Given the description of an element on the screen output the (x, y) to click on. 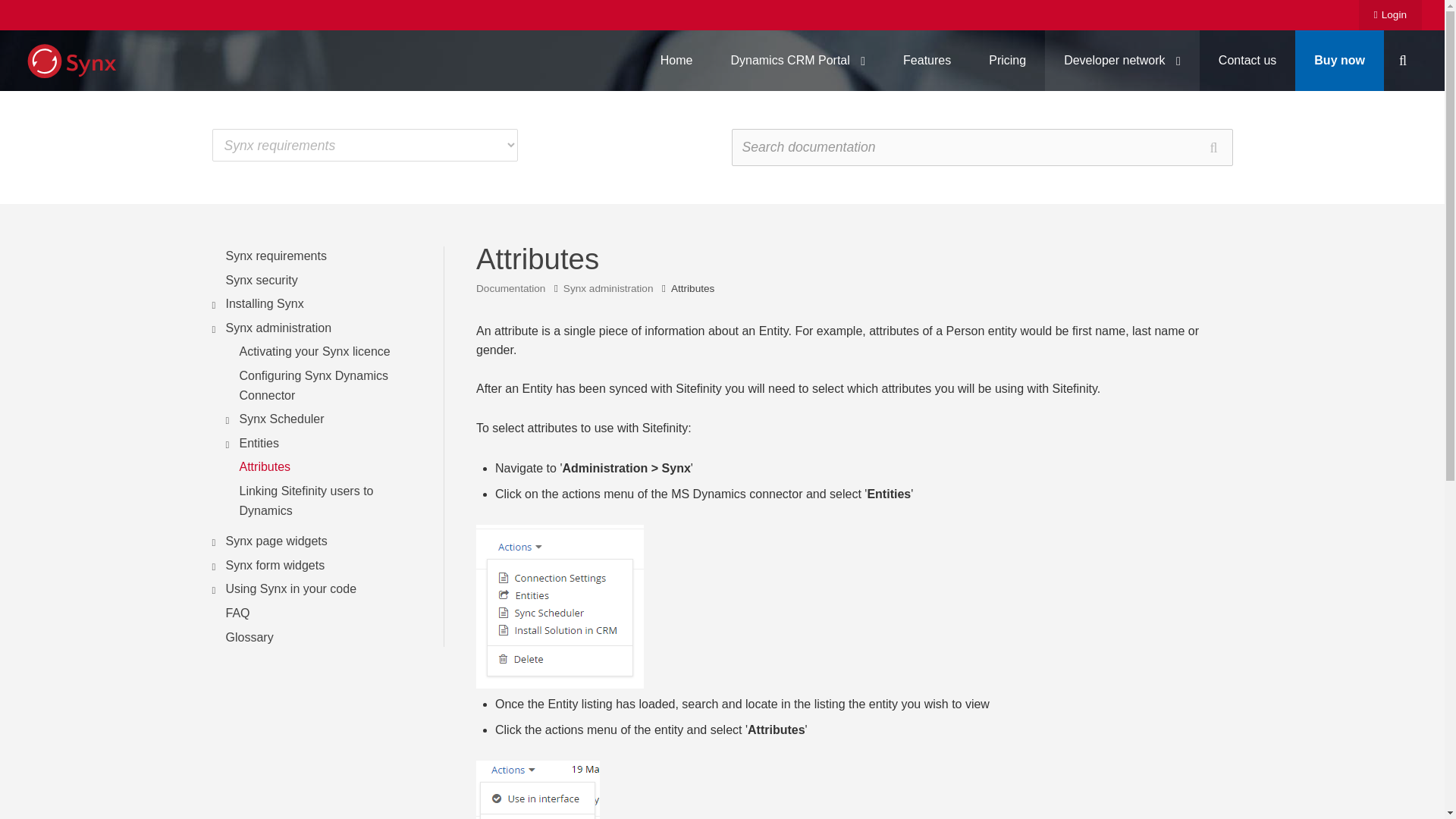
Features (926, 60)
Search input (980, 147)
Dynamics CRM Portal (797, 60)
Login (1390, 15)
Buy now (1339, 60)
Developer network (1122, 60)
successfully installed synx (537, 789)
Home (676, 60)
Contact us (1247, 60)
successfully installed synx (559, 606)
